Given the description of an element on the screen output the (x, y) to click on. 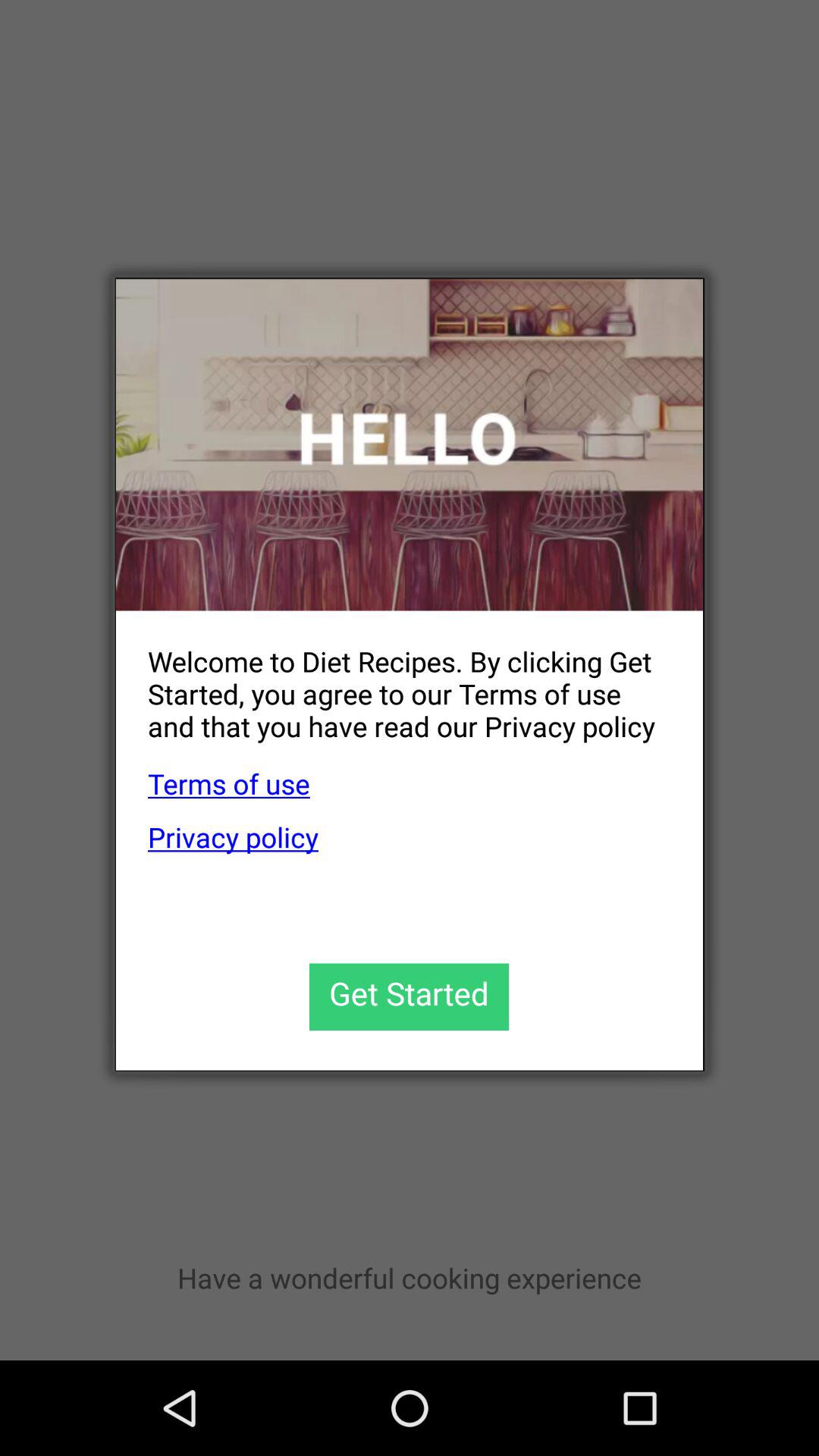
launch app above the welcome to diet icon (409, 444)
